Given the description of an element on the screen output the (x, y) to click on. 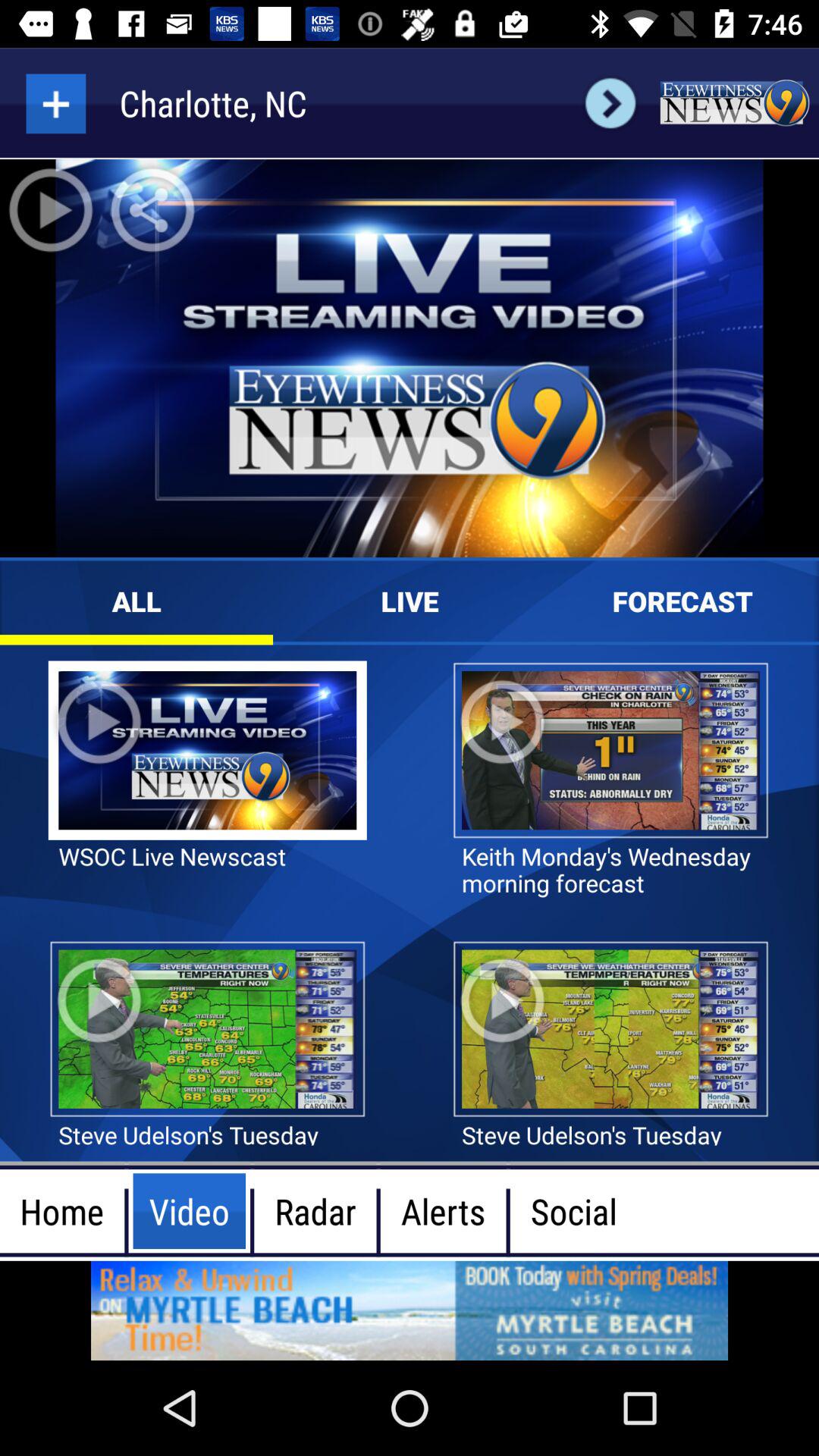
advertisement (409, 1310)
